Given the description of an element on the screen output the (x, y) to click on. 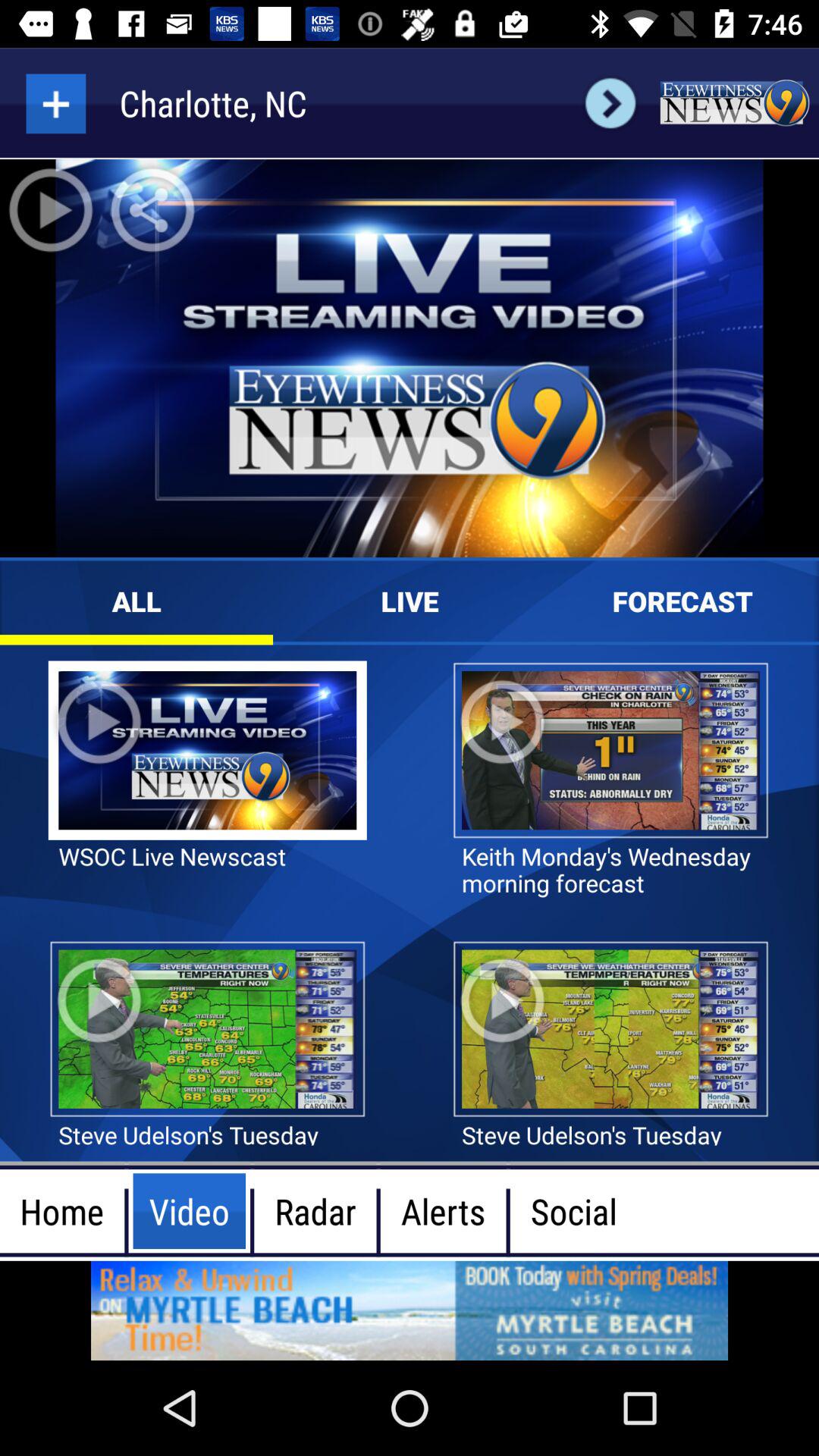
advertisement (409, 1310)
